Given the description of an element on the screen output the (x, y) to click on. 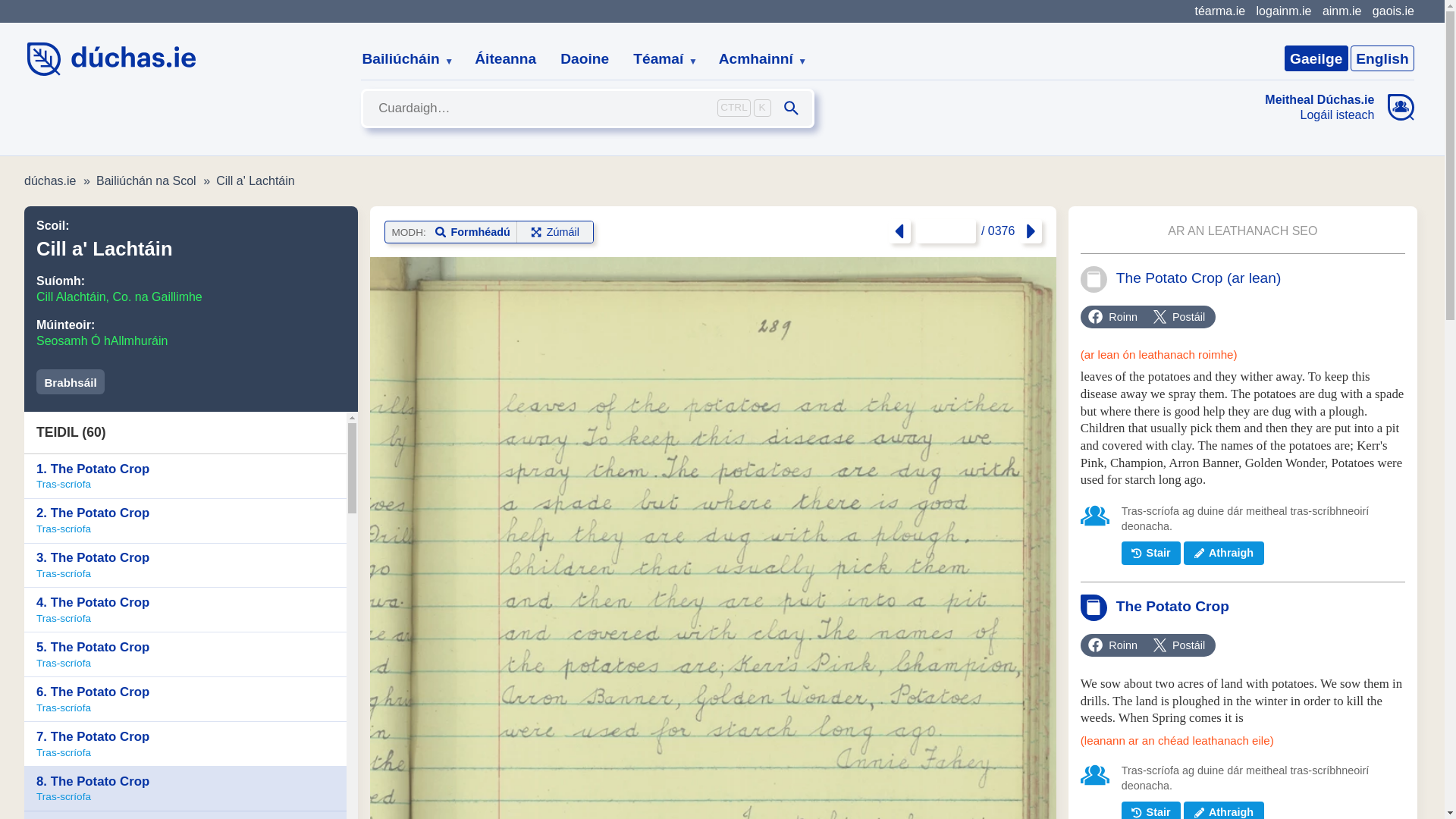
Daoine (584, 58)
Gaeilge (1316, 58)
logainm.ie (1283, 11)
ainm.ie (1341, 11)
English (1382, 58)
gaois.ie (1393, 11)
